Given the description of an element on the screen output the (x, y) to click on. 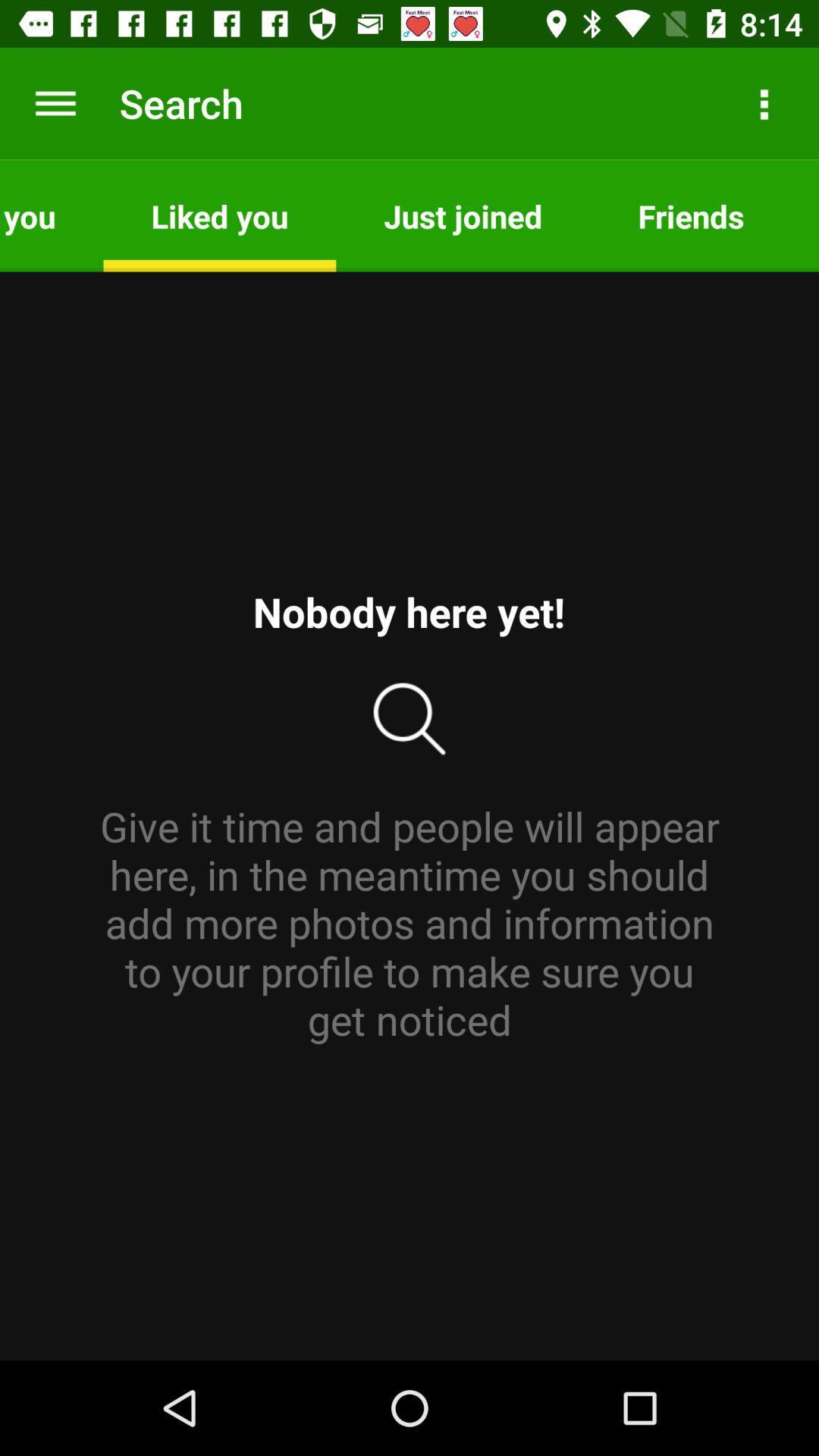
click on search icon below nobody here yet (409, 719)
